Given the description of an element on the screen output the (x, y) to click on. 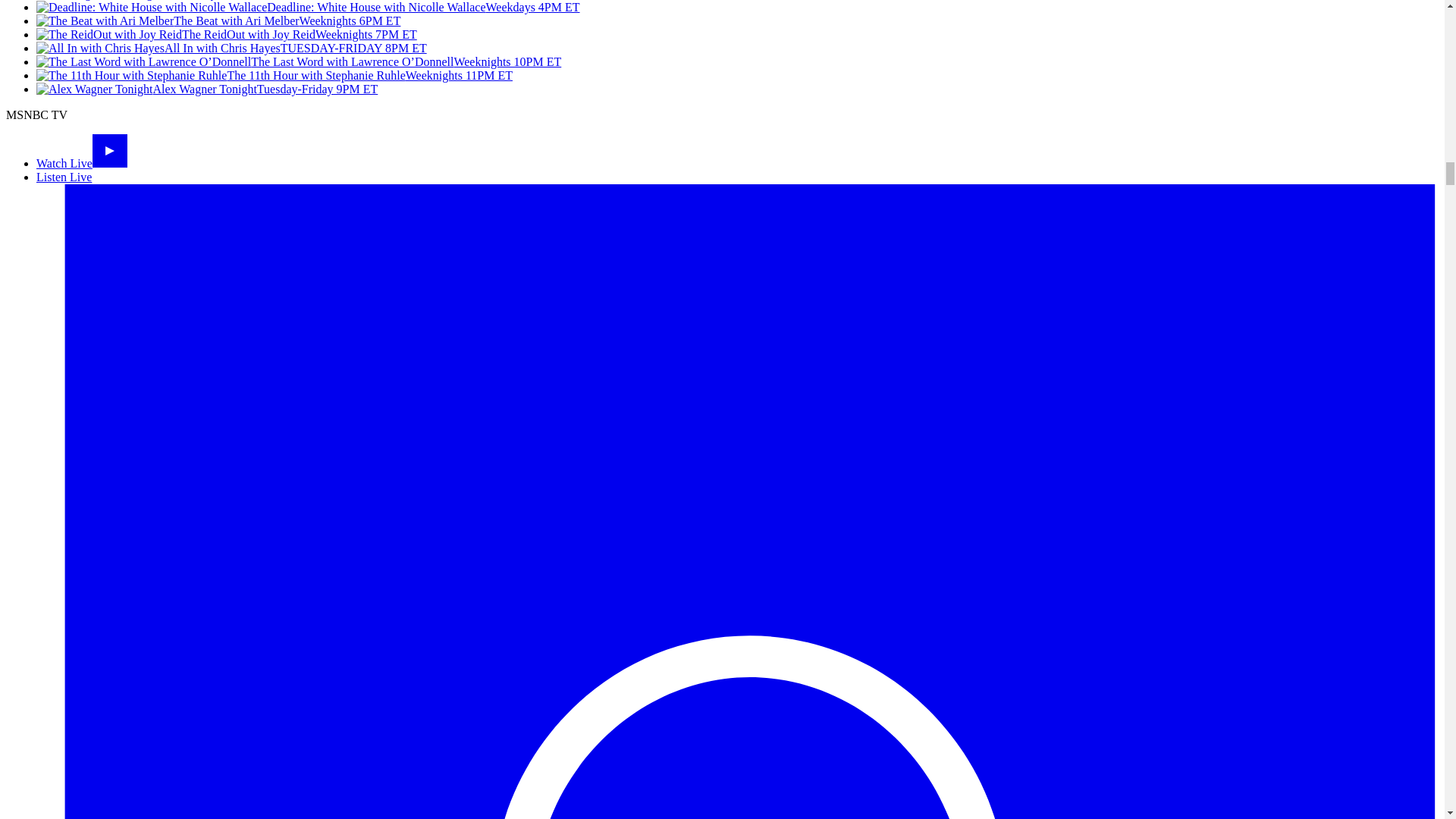
All In with Chris HayesTUESDAY-FRIDAY 8PM ET (231, 47)
The 11th Hour with Stephanie RuhleWeeknights 11PM ET (274, 74)
The ReidOut with Joy ReidWeeknights 7PM ET (226, 33)
Watch Live (82, 163)
Deadline: White House with Nicolle WallaceWeekdays 4PM ET (307, 6)
Alex Wagner TonightTuesday-Friday 9PM ET (206, 88)
The Beat with Ari MelberWeeknights 6PM ET (218, 20)
